Given the description of an element on the screen output the (x, y) to click on. 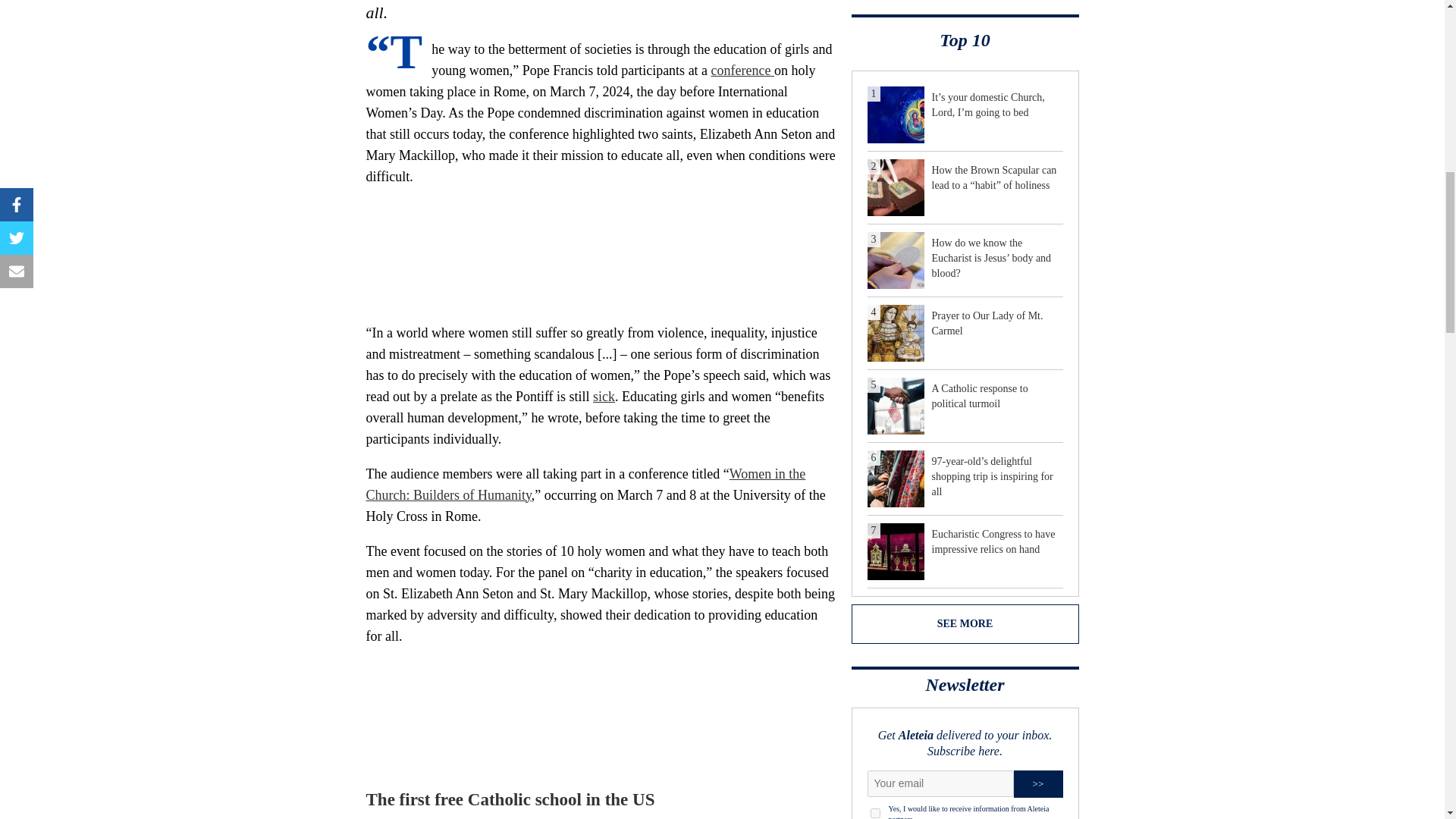
conference (742, 70)
sick (603, 396)
1 (875, 813)
